Given the description of an element on the screen output the (x, y) to click on. 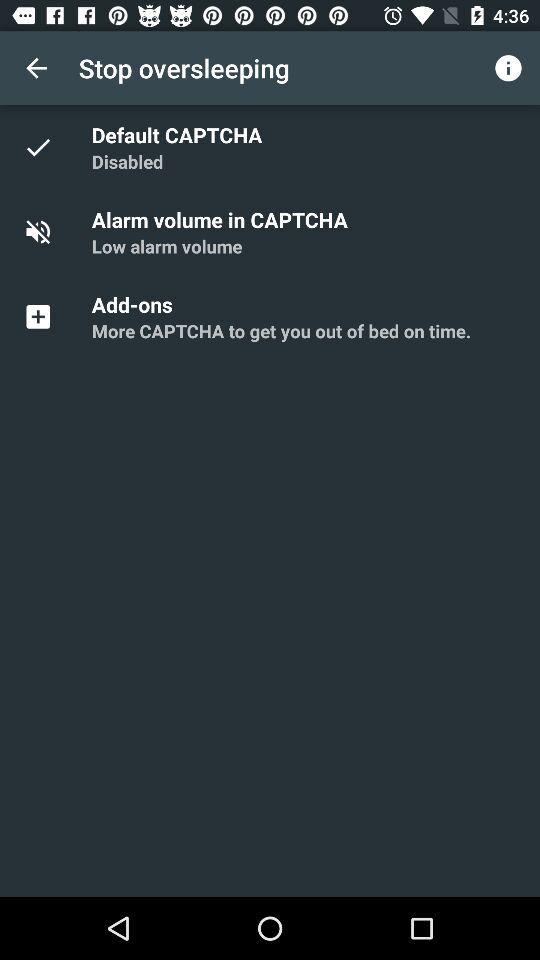
choose the icon next to stop oversleeping item (508, 67)
